Given the description of an element on the screen output the (x, y) to click on. 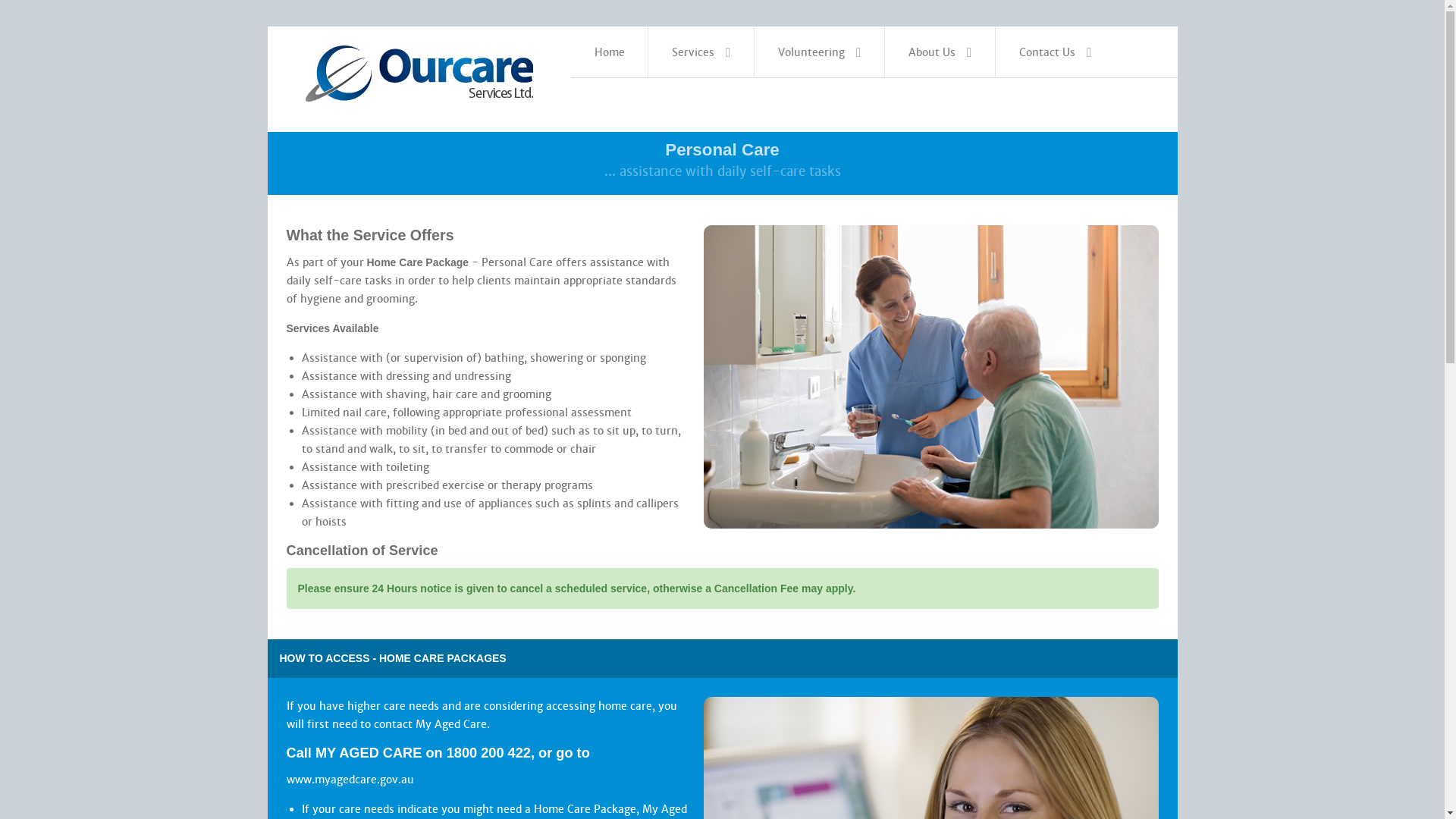
Services Element type: text (701, 51)
Home Element type: text (609, 51)
www.myagedcare.gov.au Element type: text (350, 779)
Contact Us Element type: text (1055, 51)
Volunteering Element type: text (819, 51)
About Us Element type: text (939, 51)
